Given the description of an element on the screen output the (x, y) to click on. 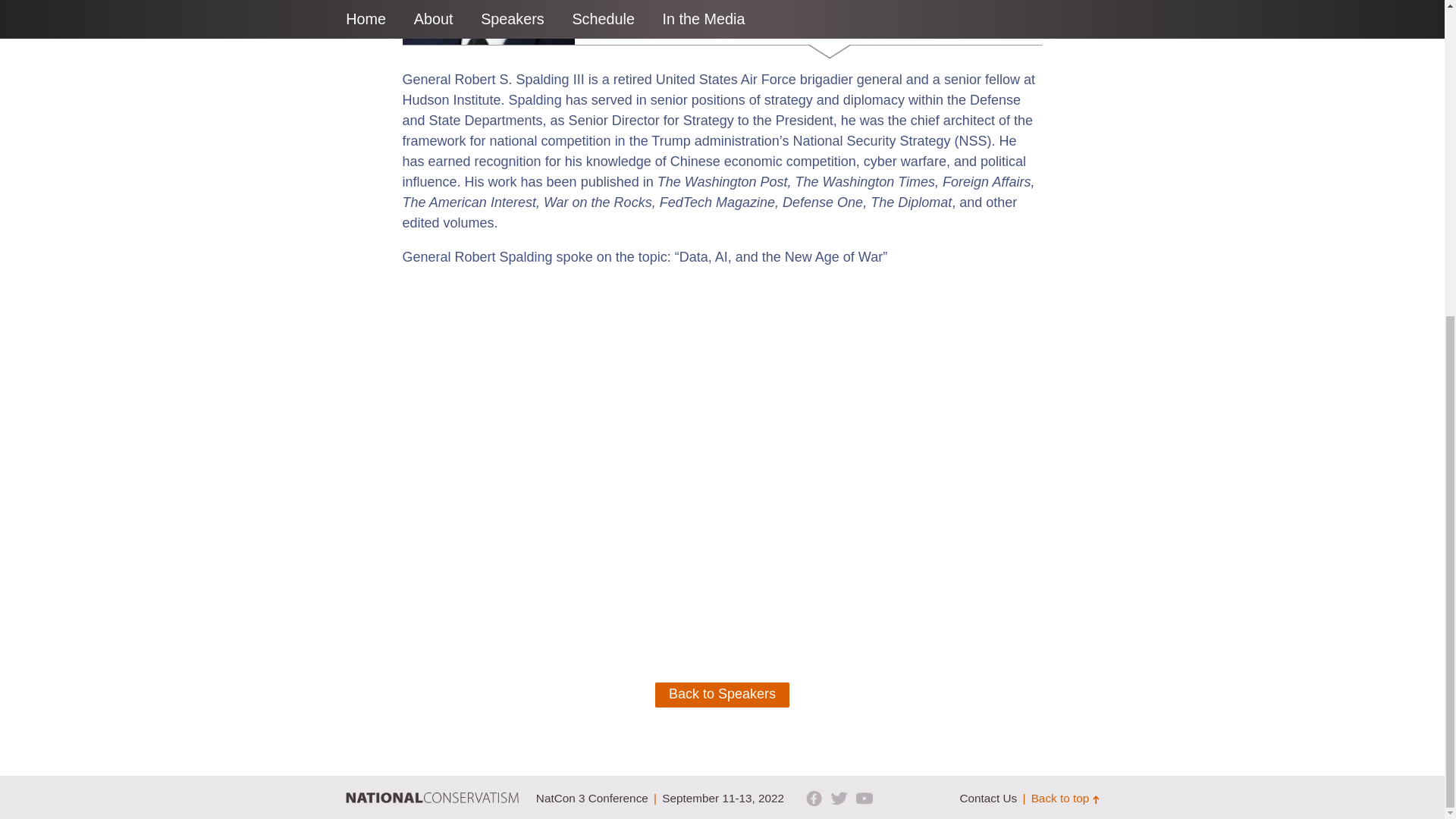
Back to top (1064, 797)
Contact Us (987, 797)
Back to Speakers (722, 694)
